Given the description of an element on the screen output the (x, y) to click on. 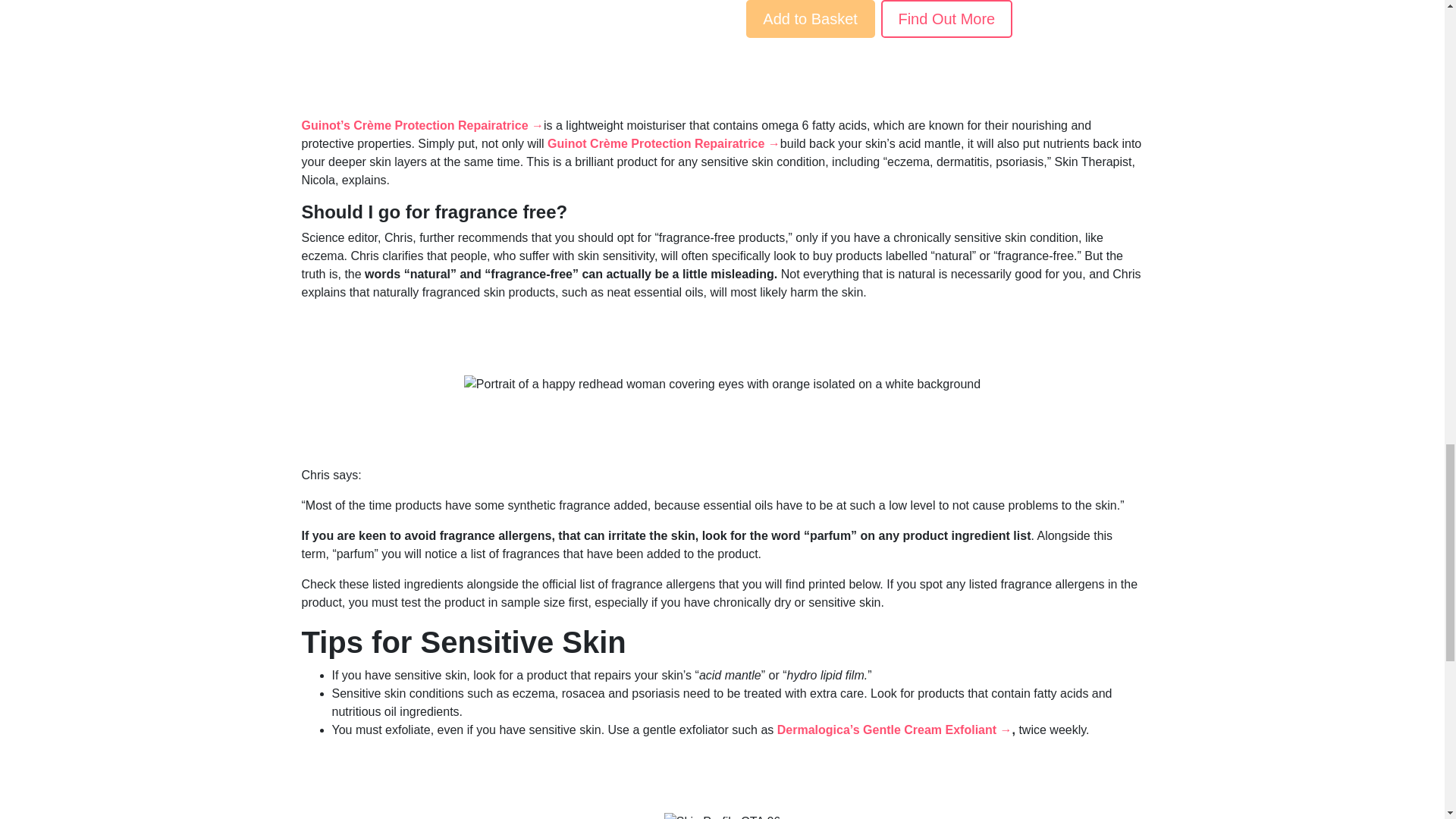
Add to Basket (810, 18)
Find Out More (945, 18)
